Given the description of an element on the screen output the (x, y) to click on. 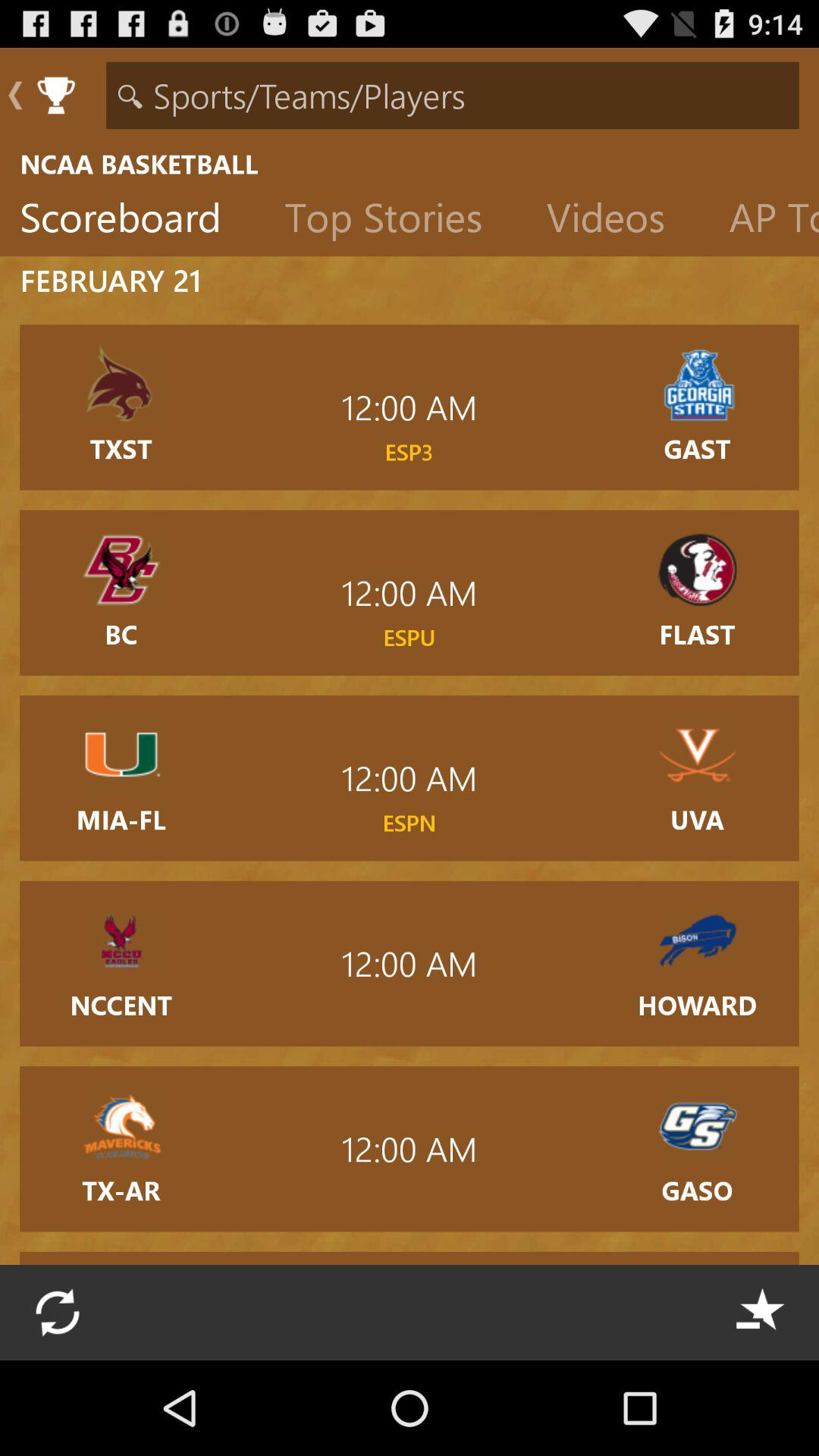
type in a search (452, 95)
